Given the description of an element on the screen output the (x, y) to click on. 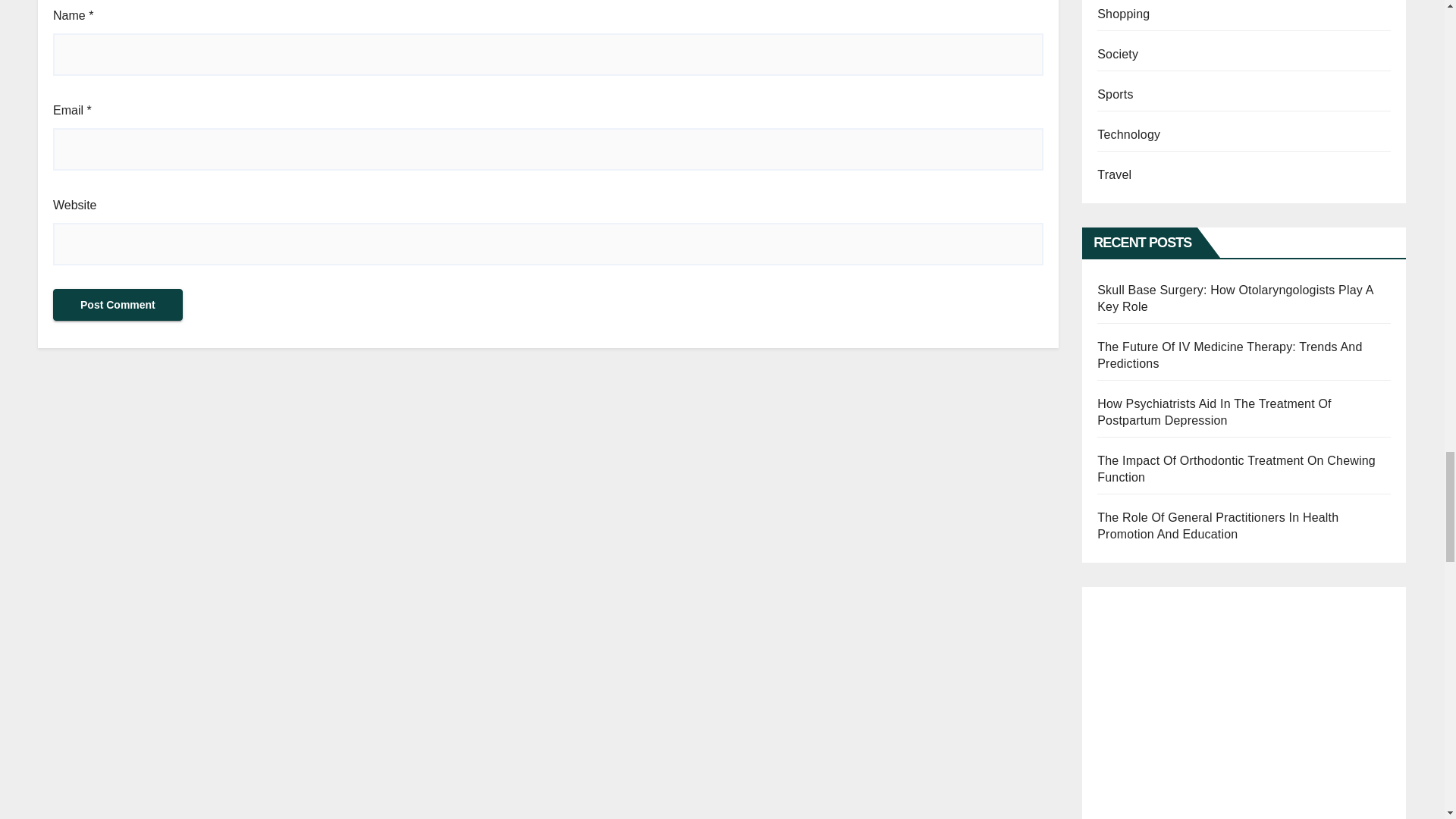
Post Comment (117, 305)
